Given the description of an element on the screen output the (x, y) to click on. 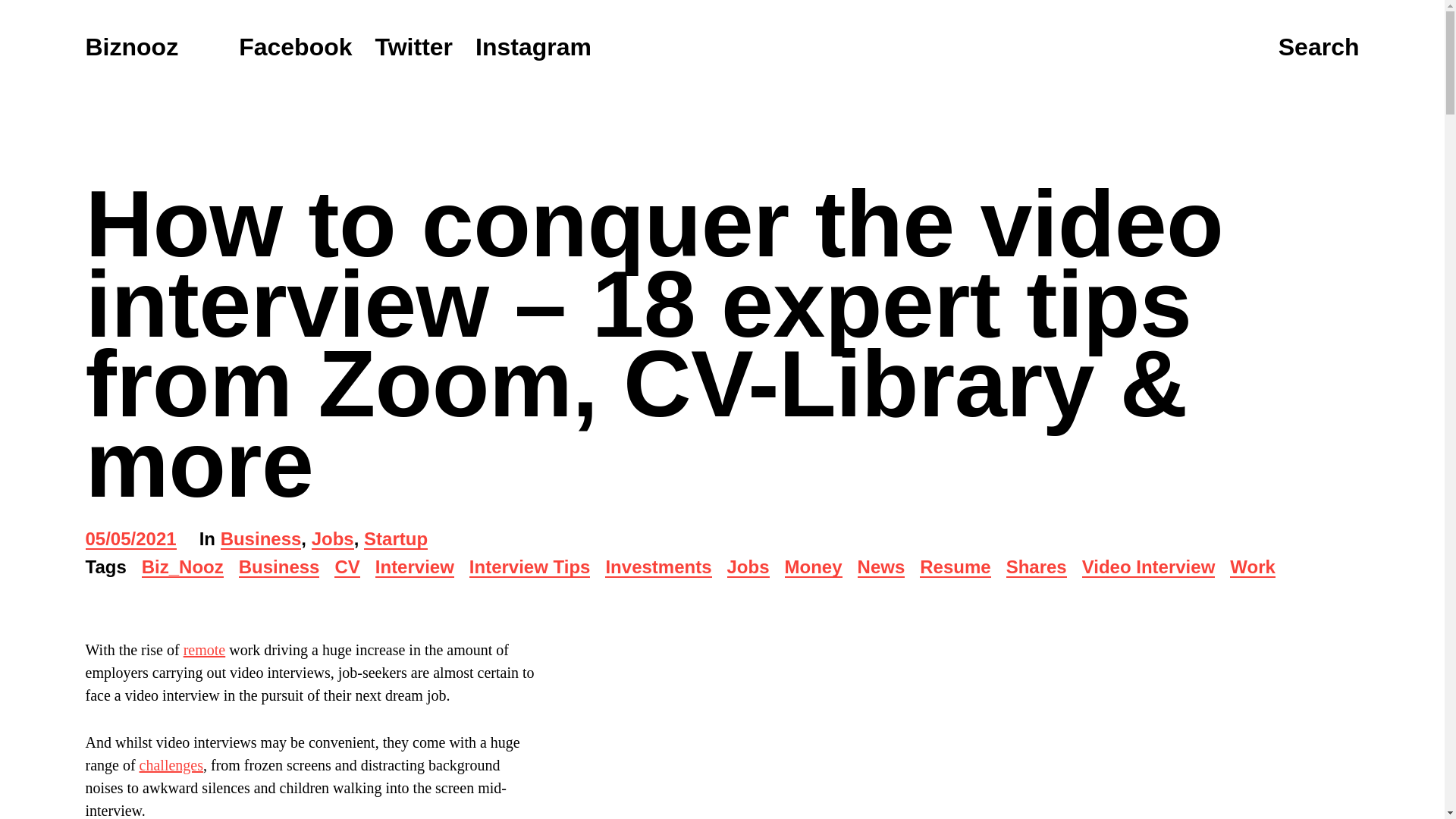
Jobs (332, 539)
challenges (171, 764)
Search (1318, 47)
Work (1252, 568)
Business (261, 539)
Interview Tips (529, 568)
Twitter (413, 47)
CV (346, 568)
Jobs (748, 568)
Resume (955, 568)
